Given the description of an element on the screen output the (x, y) to click on. 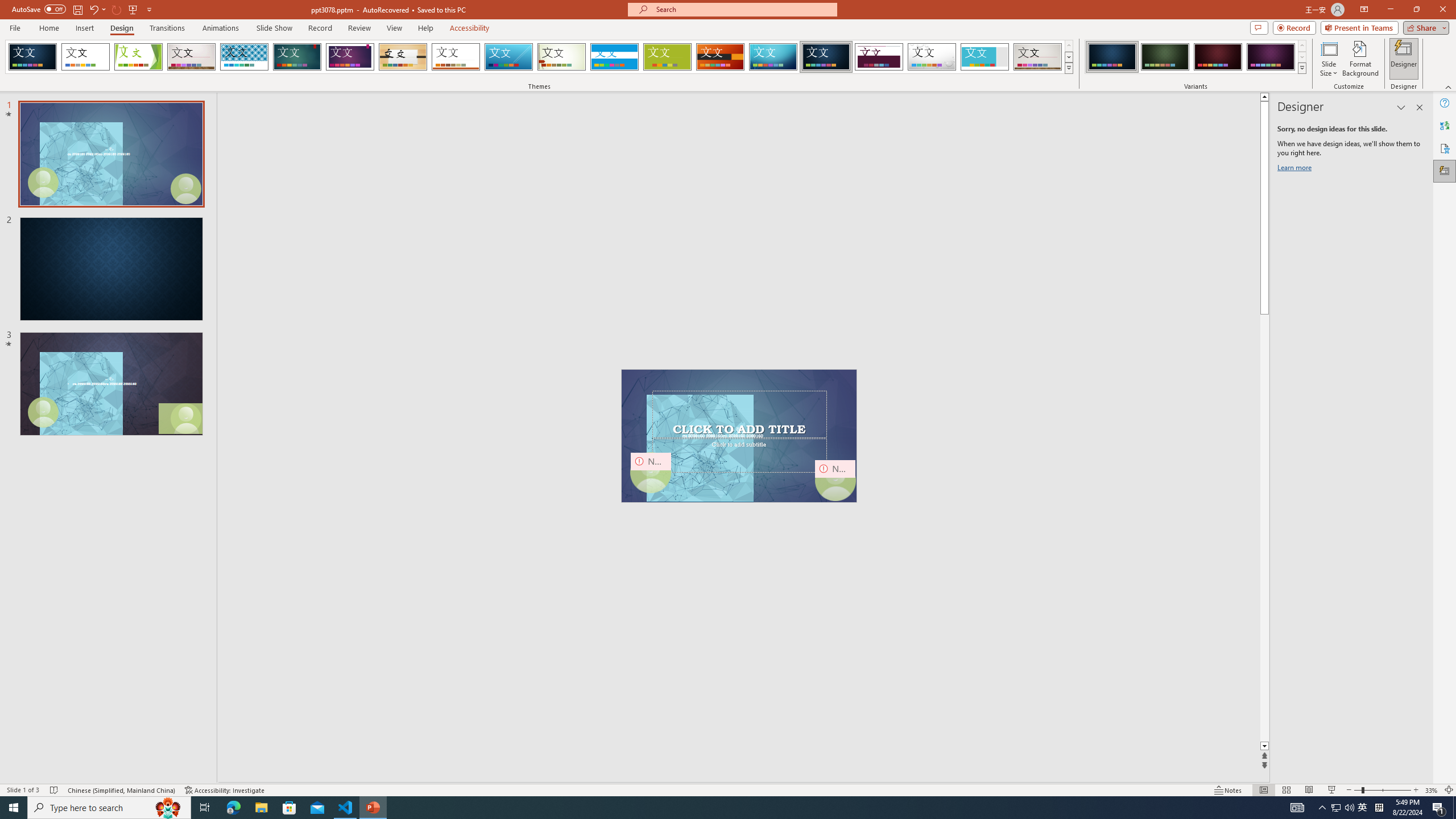
Facet (138, 56)
Circuit (772, 56)
AutomationID: ThemeVariantsGallery (1195, 56)
Damask Variant 2 (1164, 56)
Damask Variant 4 (1270, 56)
An abstract genetic concept (738, 435)
Themes (1068, 67)
TextBox 7 (736, 430)
Damask Variant 1 (1112, 56)
